Given the description of an element on the screen output the (x, y) to click on. 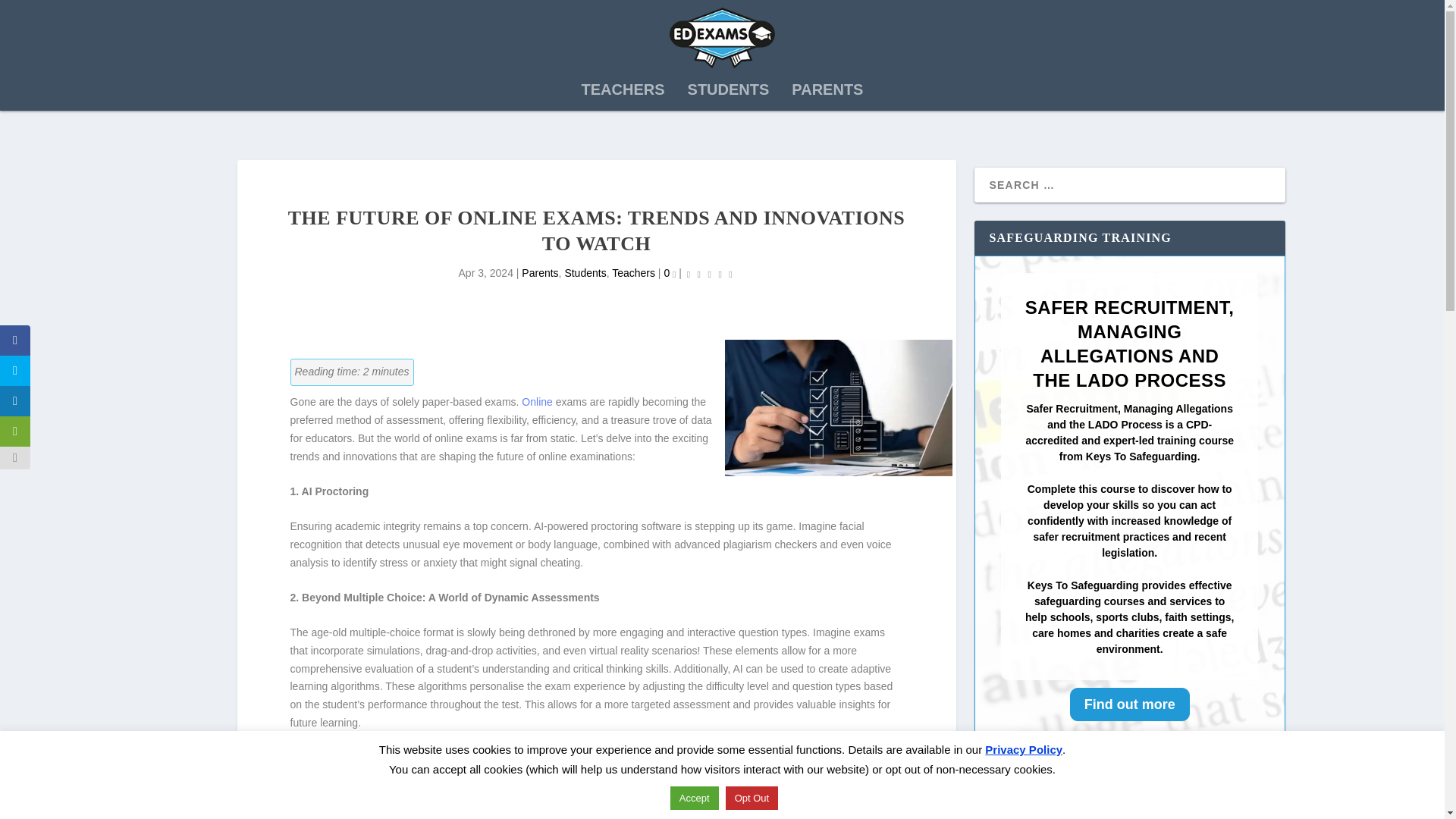
Students (584, 272)
TEACHERS (622, 93)
Search (34, 14)
Teachers (633, 272)
PARENTS (827, 93)
Rating: 0.00 (709, 273)
How to make online exams more inclusive for SEND candidates (1151, 814)
Parents (539, 272)
Online (536, 401)
STUDENTS (728, 93)
